Given the description of an element on the screen output the (x, y) to click on. 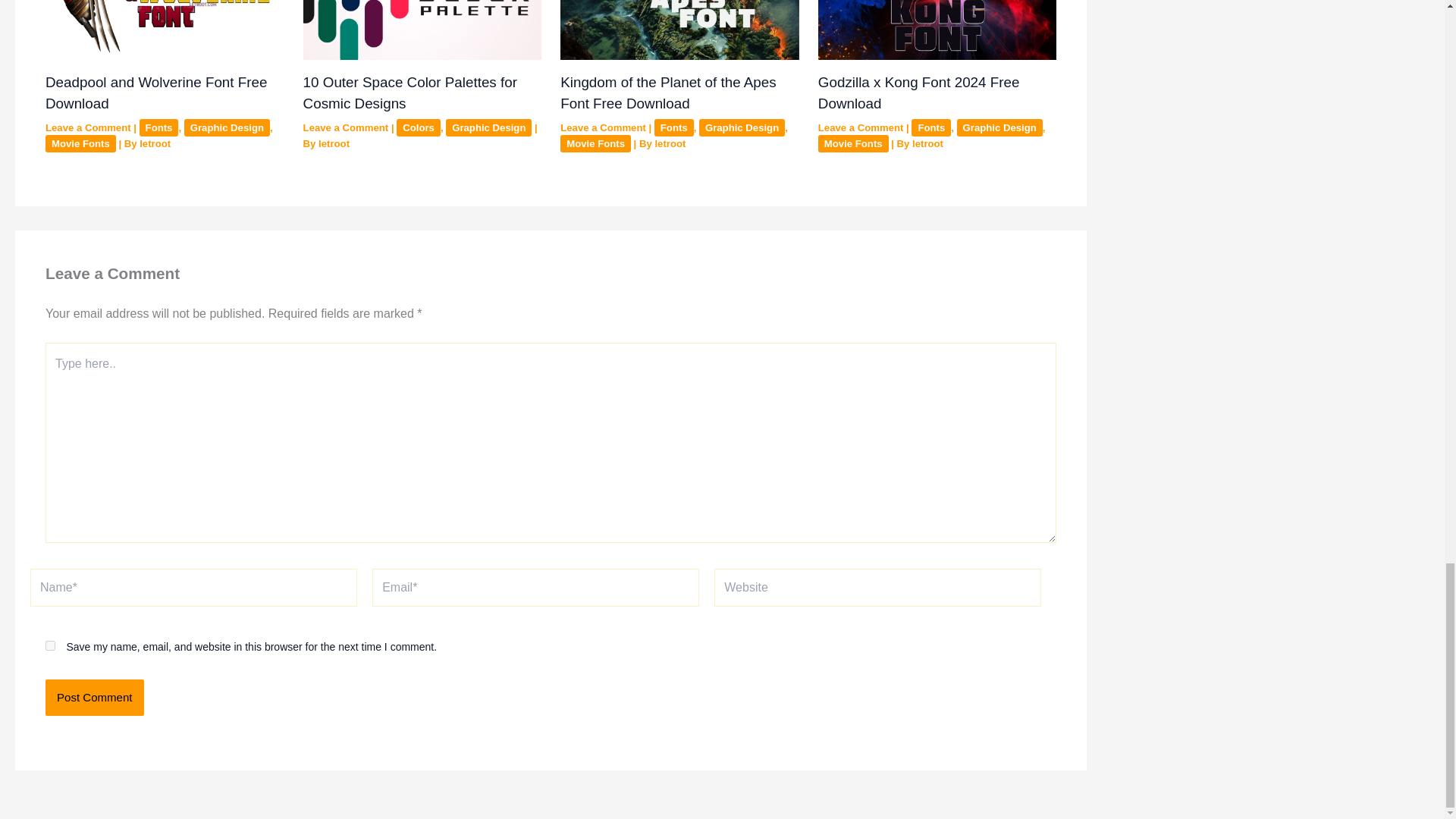
View all posts by letroot (154, 143)
View all posts by letroot (669, 143)
View all posts by letroot (333, 143)
Post Comment (94, 697)
yes (50, 645)
View all posts by letroot (927, 143)
